Given the description of an element on the screen output the (x, y) to click on. 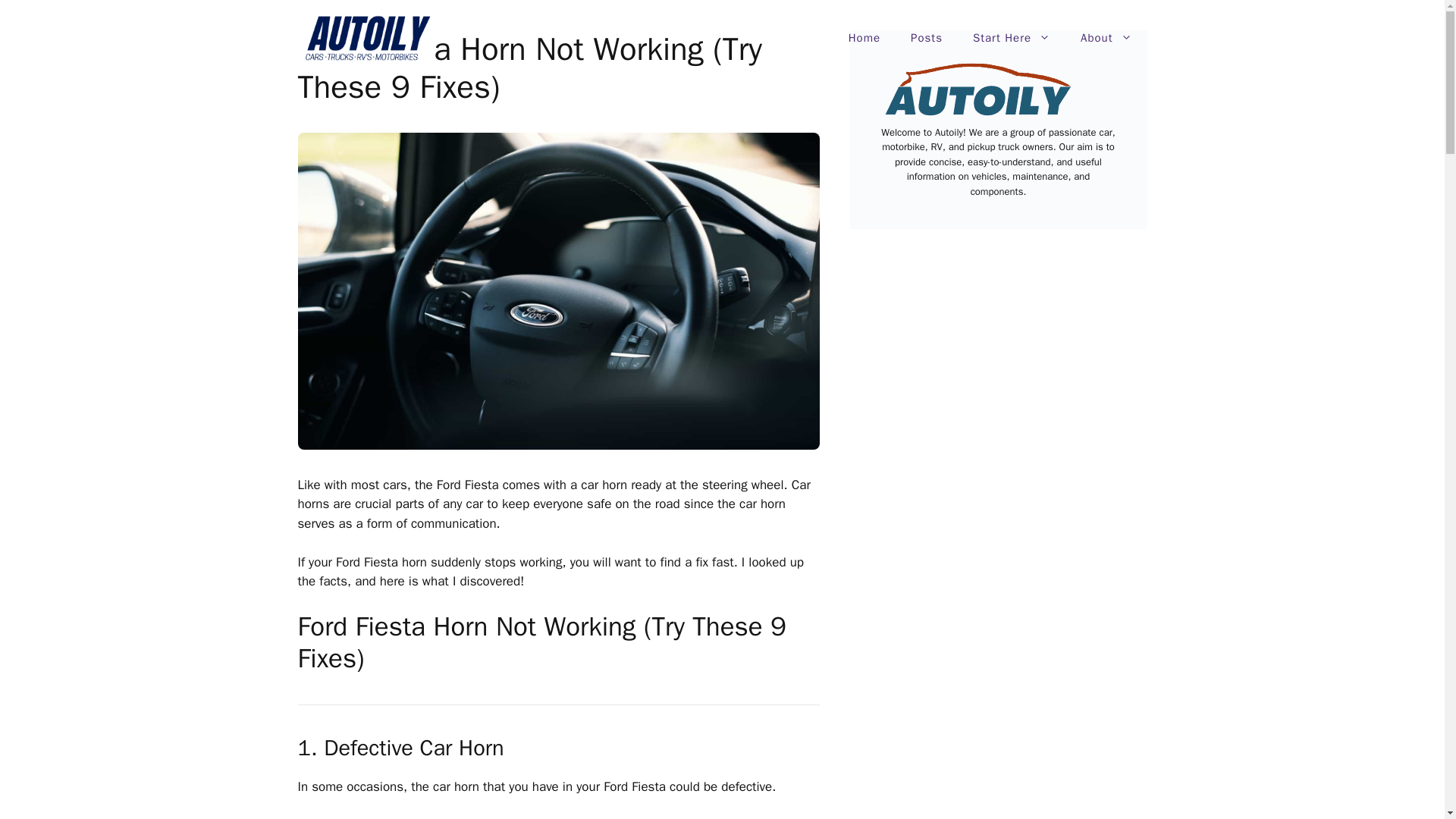
Posts (926, 37)
About (1106, 37)
Start Here (1011, 37)
Home (863, 37)
